Given the description of an element on the screen output the (x, y) to click on. 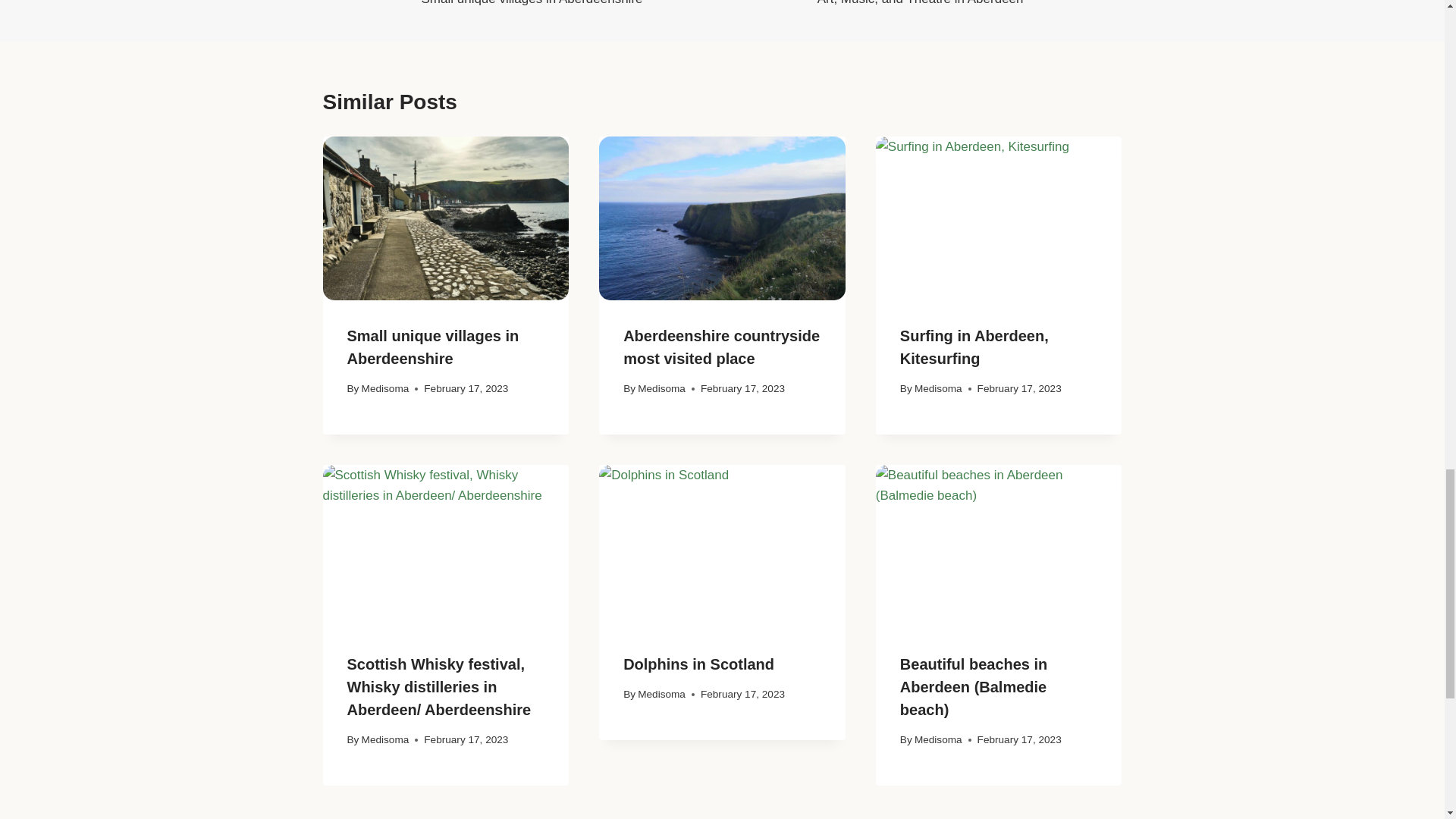
Medisoma (661, 388)
Medisoma (872, 4)
Surfing in Aberdeen, Kitesurfing (938, 388)
Small unique villages in Aberdeenshire (973, 346)
Aberdeenshire countryside most visited place (433, 346)
Medisoma (572, 4)
